Given the description of an element on the screen output the (x, y) to click on. 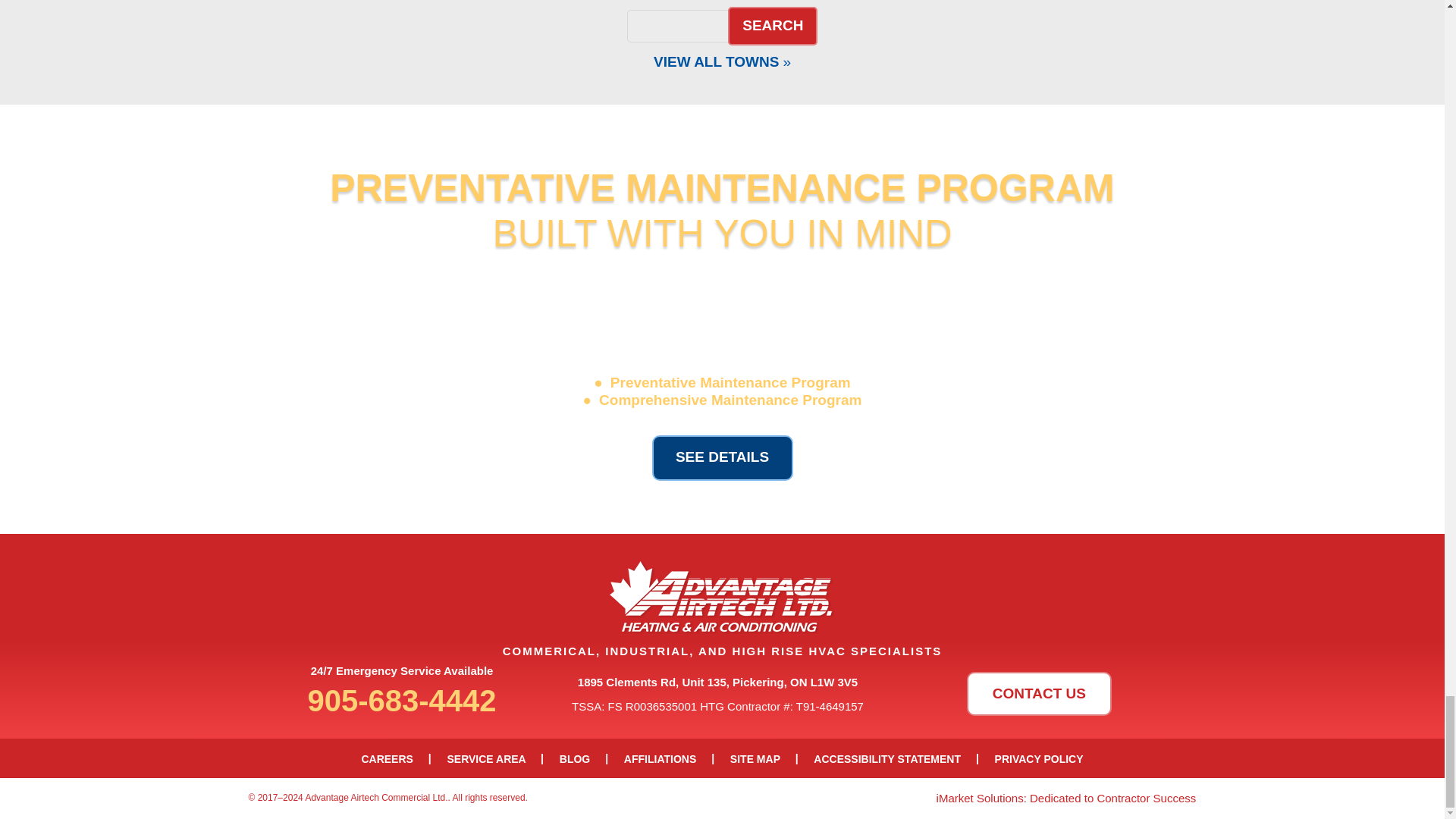
SEE DETAILS (722, 457)
CONTACT US (1039, 693)
Search (772, 25)
View Map (721, 61)
